Given the description of an element on the screen output the (x, y) to click on. 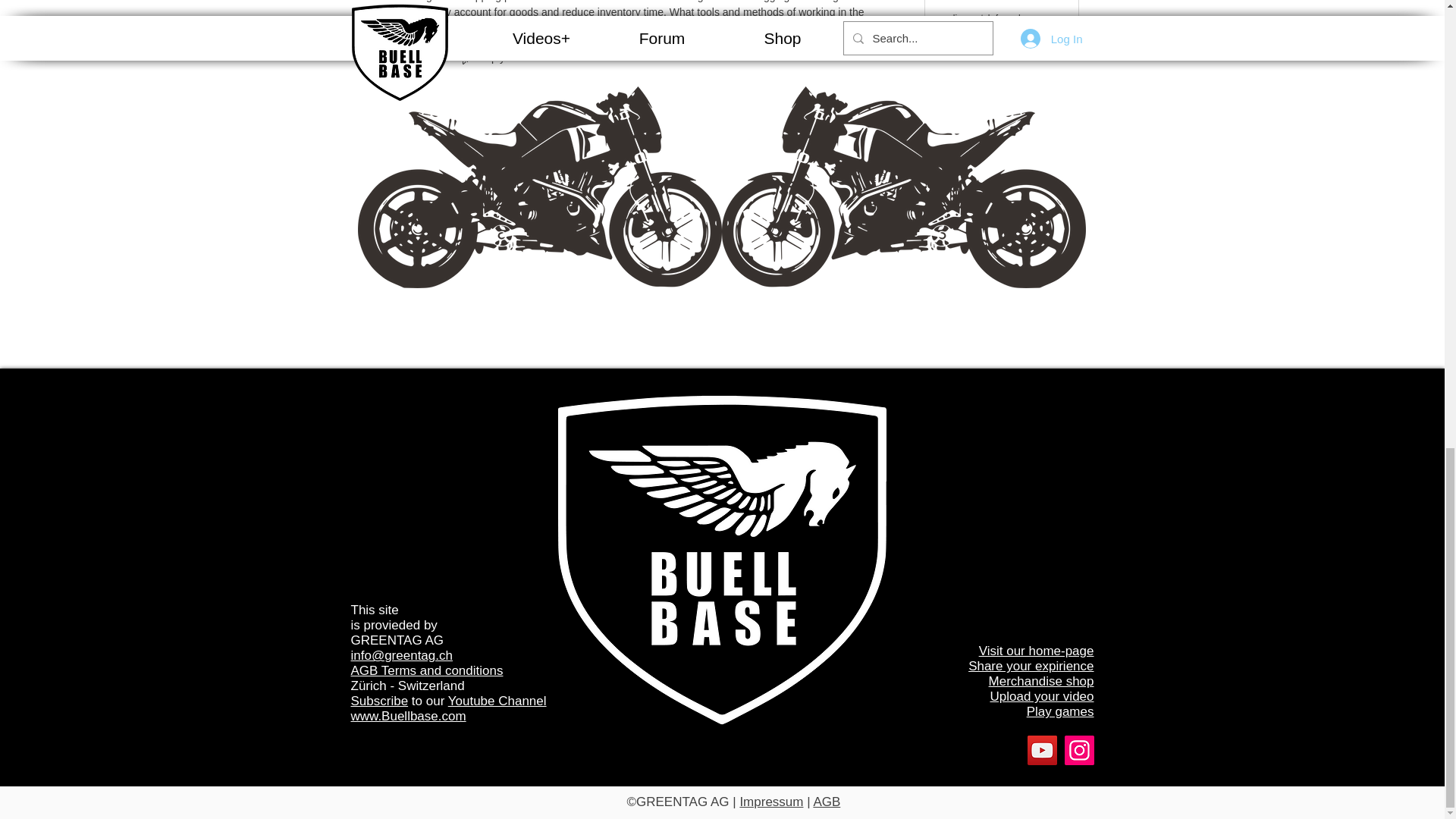
www.Buellbase.com (407, 716)
Subscribe (378, 700)
Share your expirience (1030, 666)
Merchandise shop (1041, 681)
Youtube Channel (497, 700)
AGB Terms and conditions (426, 670)
Visit our home-page (1036, 650)
Upload your video (1041, 696)
Reply (481, 57)
